Given the description of an element on the screen output the (x, y) to click on. 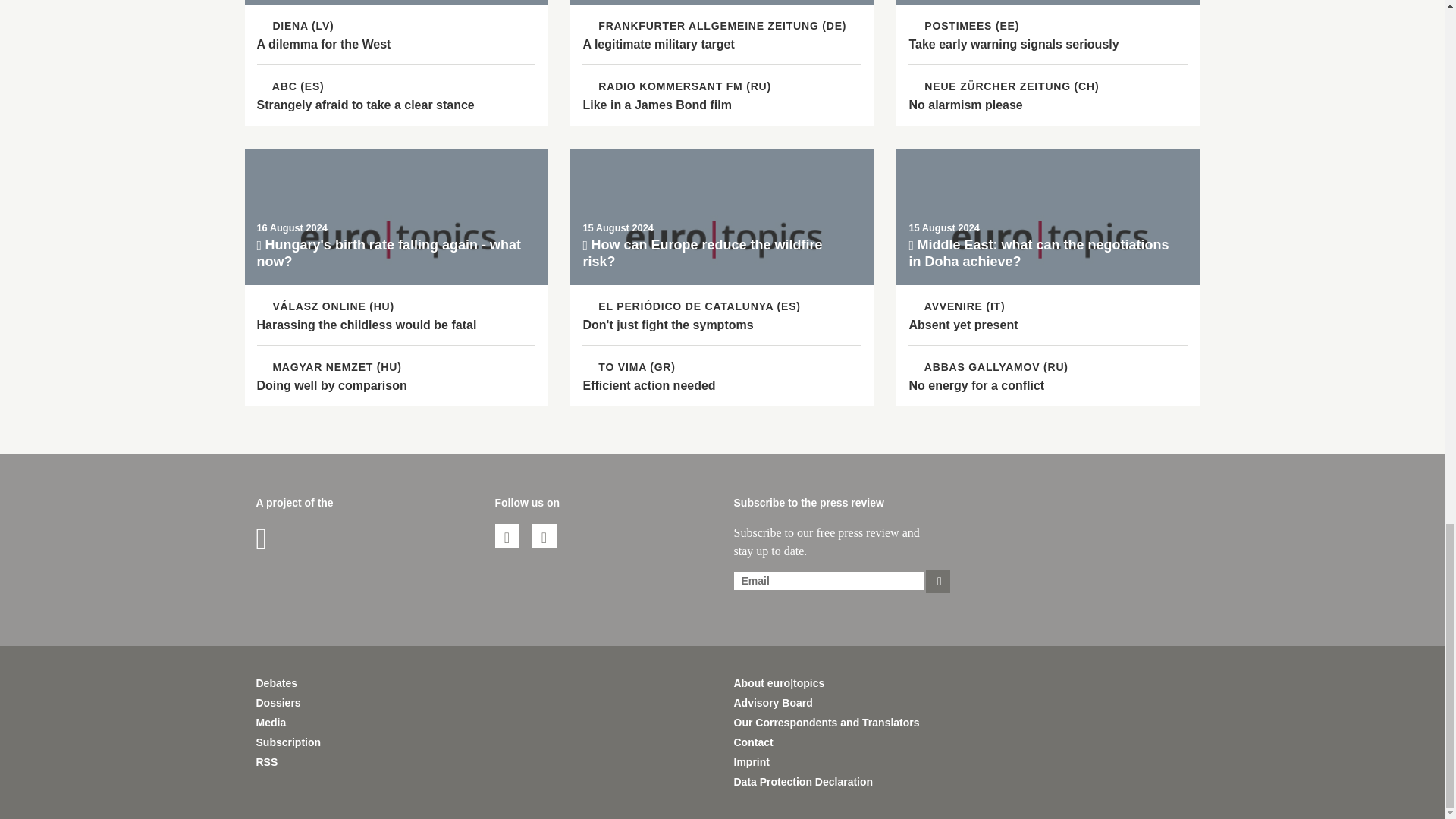
Afghanistan: how to deal with the Taliban regime? (395, 24)
Postimees (964, 25)
Diena (295, 25)
WHO declares mpox outbreak a global health emergency (1047, 24)
Frankfurter Allgemeine Zeitung (714, 25)
Nord Stream blasts: new details and accusations (721, 24)
Radio Kommersant FM (676, 86)
ABC (290, 86)
